Given the description of an element on the screen output the (x, y) to click on. 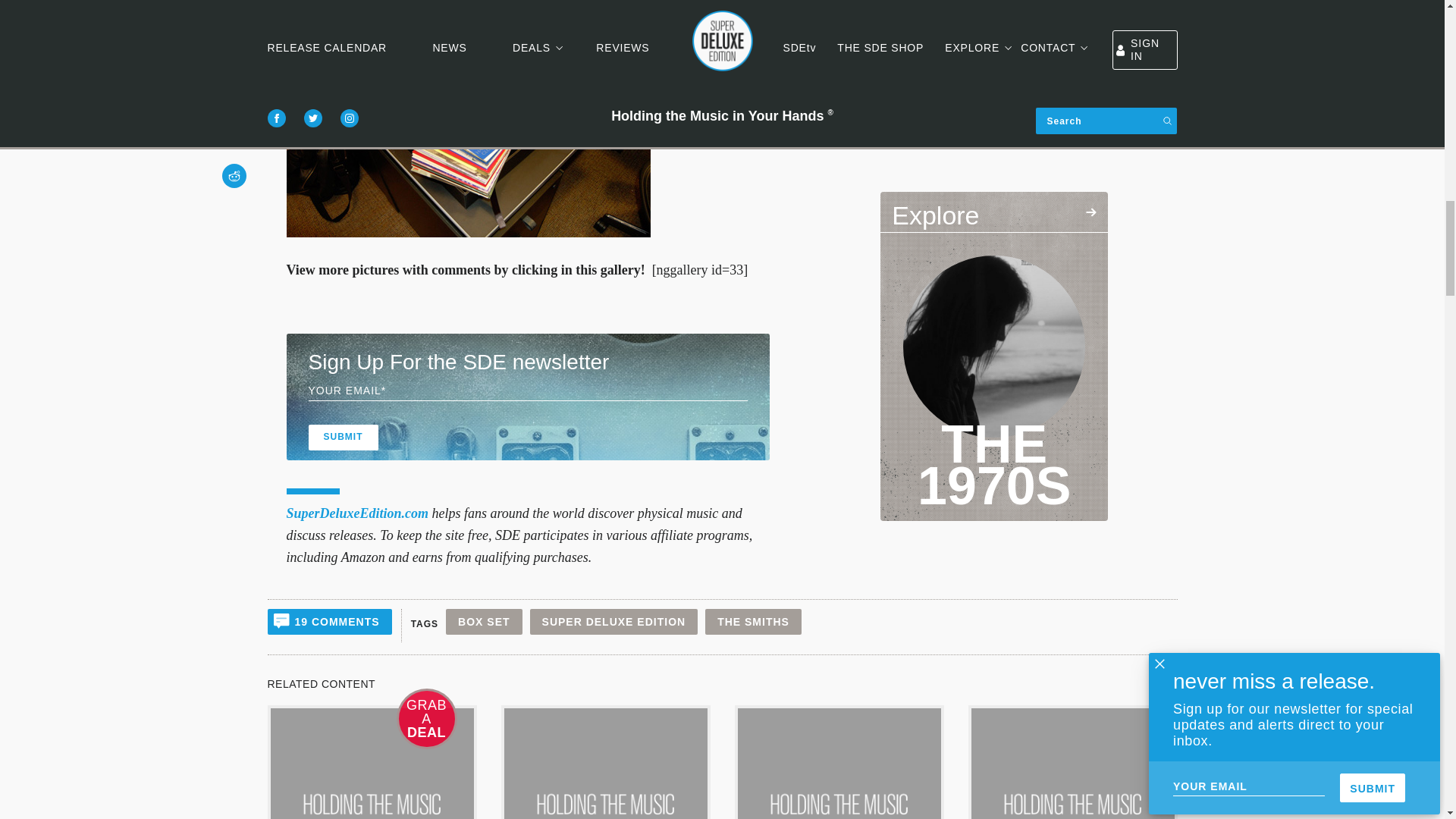
The Smiths Complete Box Set Exclusive FIRST pictures (468, 118)
